Given the description of an element on the screen output the (x, y) to click on. 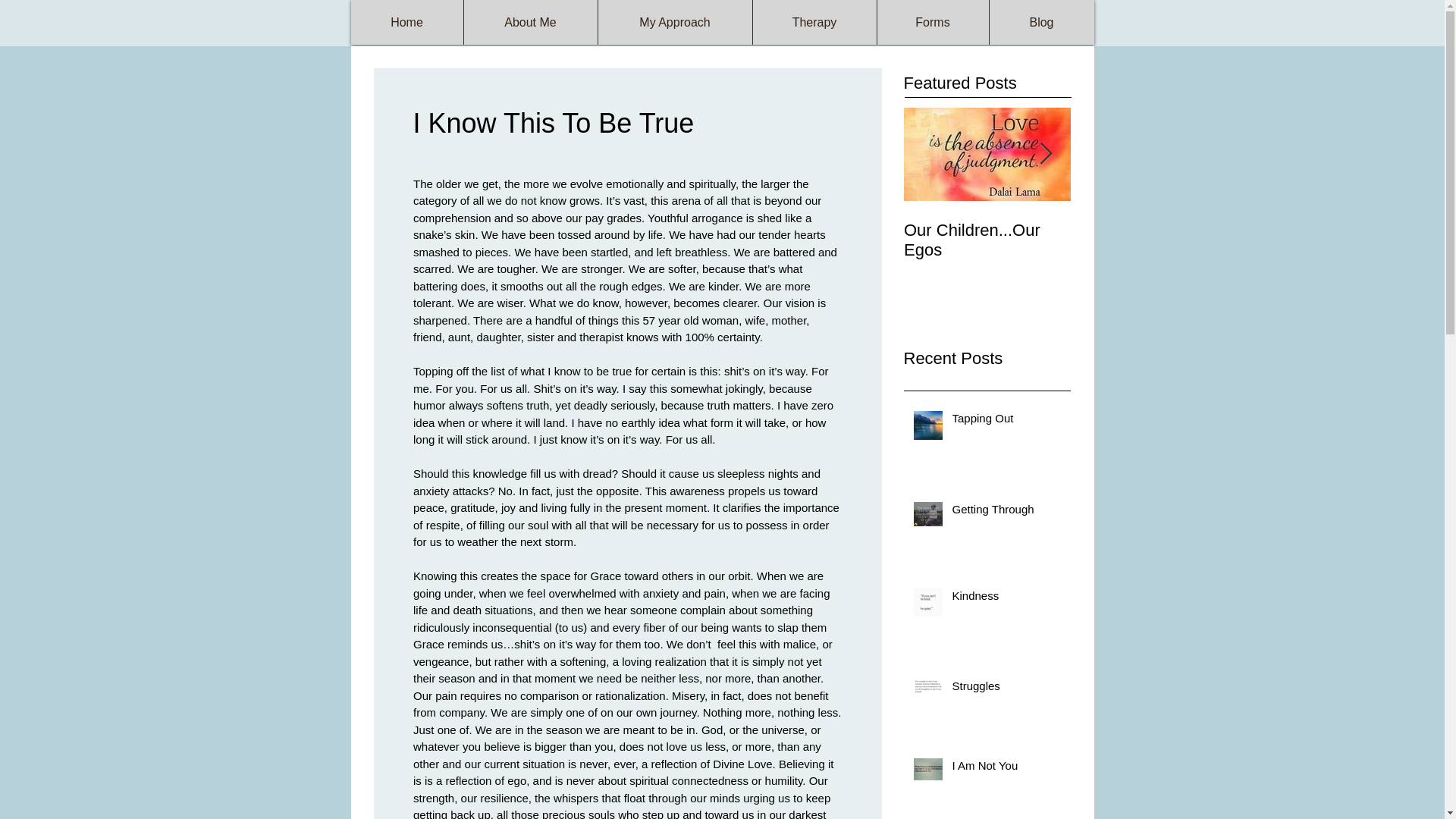
Kindness (1006, 598)
Tapping Out (1006, 421)
Blog (1041, 22)
Struggles (1006, 689)
About Me (529, 22)
Home (406, 22)
I Am Not You (1006, 768)
Getting Through (1006, 512)
Our Children...Our Egos (987, 240)
Forms (932, 22)
Learning to Loving Ourselves (1153, 240)
My Approach (674, 22)
